Given the description of an element on the screen output the (x, y) to click on. 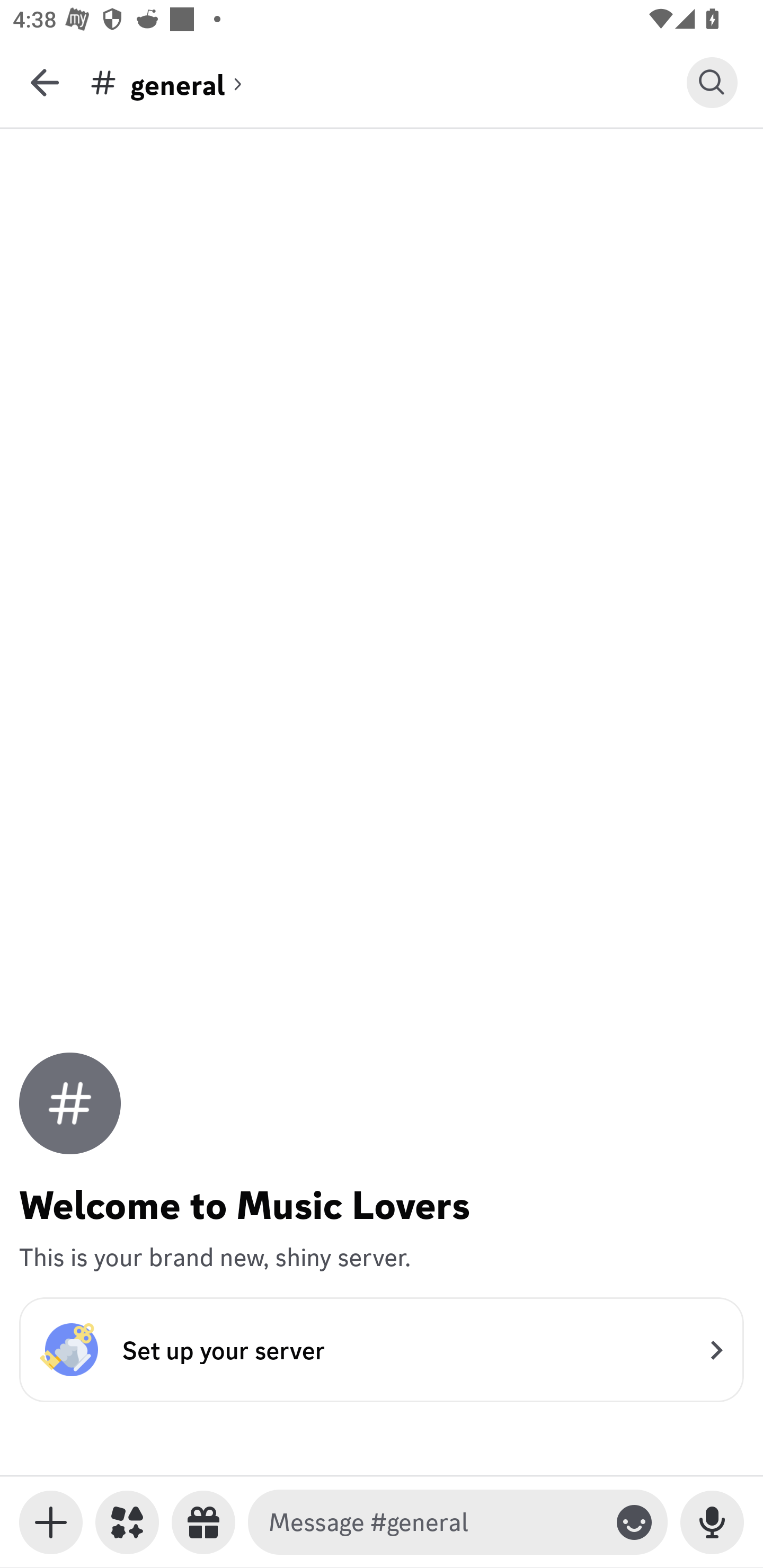
general (channel) general general (channel) (387, 82)
Back (44, 82)
Search (711, 82)
Set up your server (381, 1348)
Message #general Toggle emoji keyboard (457, 1522)
Toggle media keyboard (50, 1522)
Apps (126, 1522)
Send a gift (203, 1522)
Record Voice Message (711, 1522)
Toggle emoji keyboard (634, 1522)
